Given the description of an element on the screen output the (x, y) to click on. 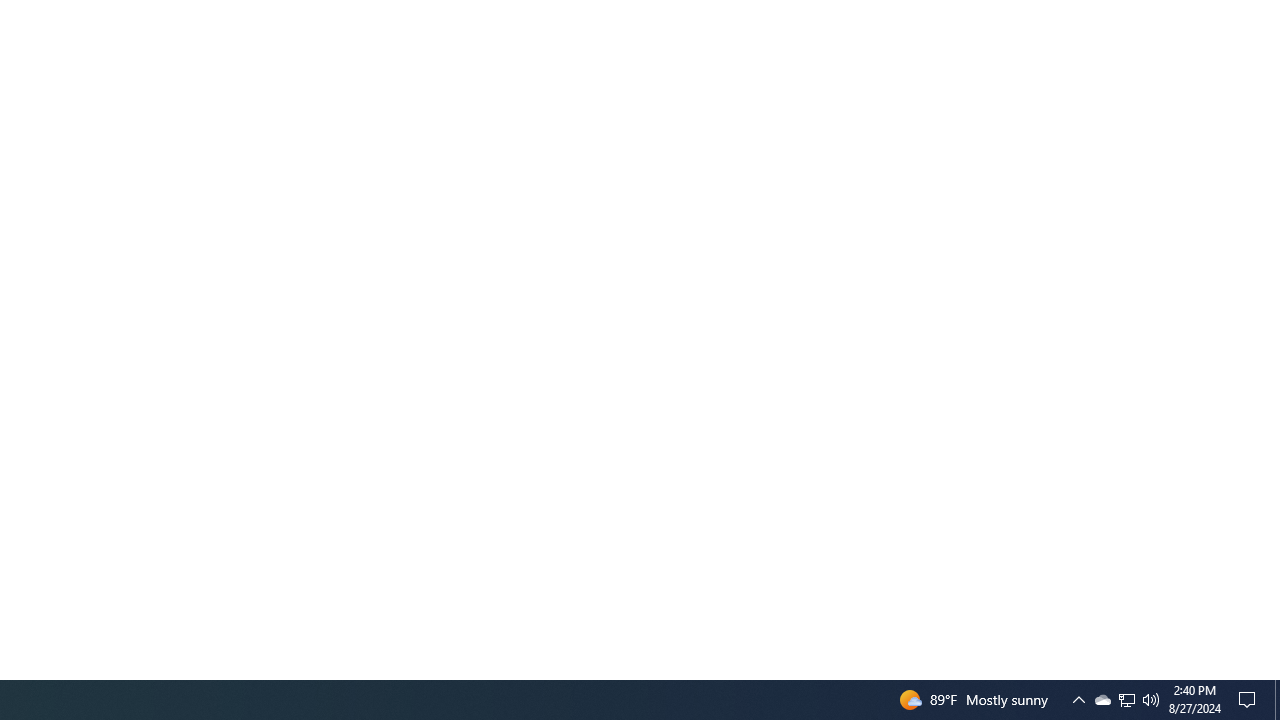
User Promoted Notification Area (1126, 699)
Notification Chevron (1102, 699)
Show desktop (1078, 699)
Q2790: 100% (1277, 699)
Action Center, No new notifications (1126, 699)
